Given the description of an element on the screen output the (x, y) to click on. 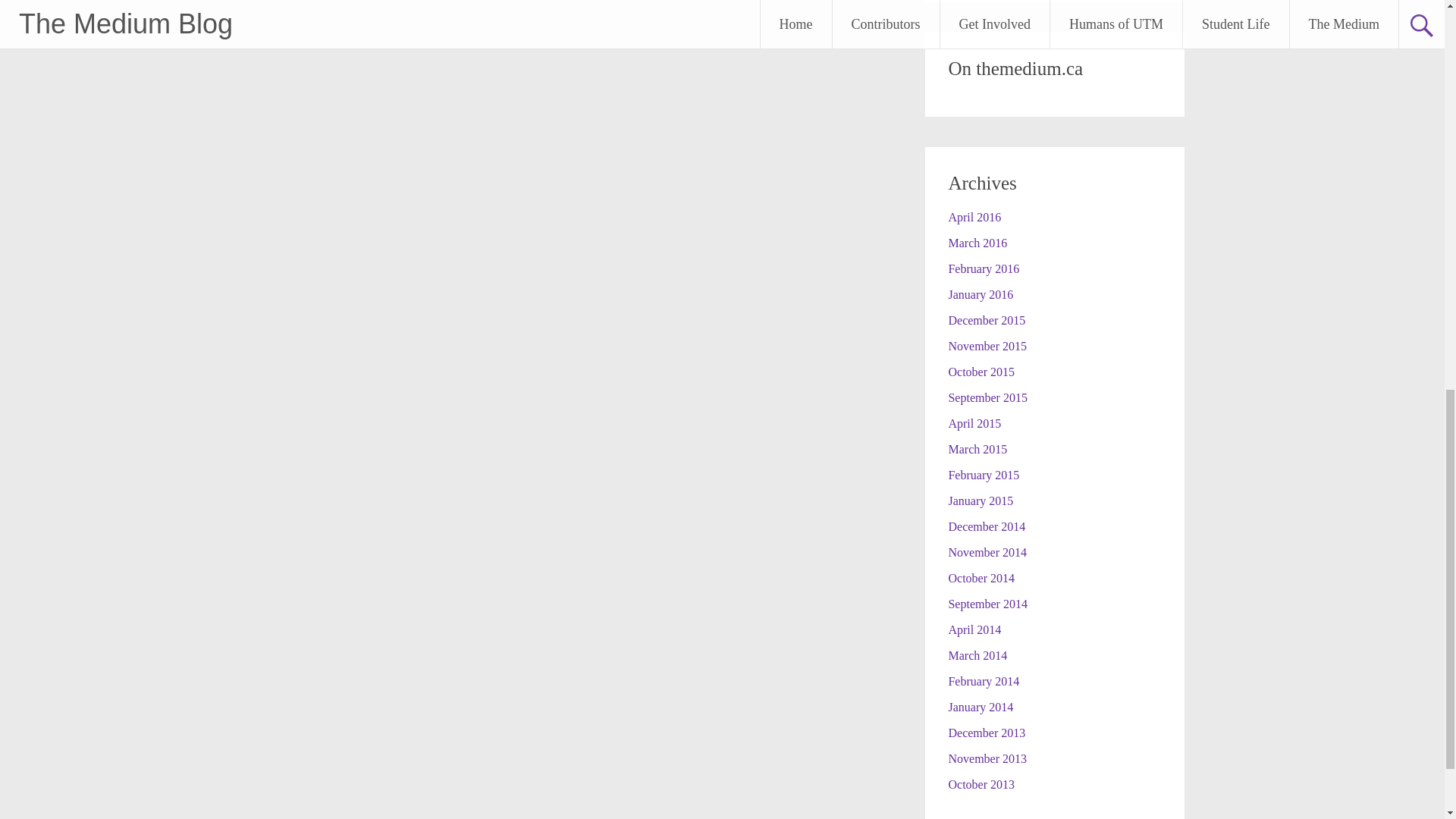
April 2015 (974, 422)
December 2015 (986, 319)
March 2016 (977, 242)
September 2015 (986, 397)
October 2015 (980, 371)
November 2015 (986, 345)
February 2016 (983, 268)
January 2016 (980, 294)
April 2016 (974, 216)
